Given the description of an element on the screen output the (x, y) to click on. 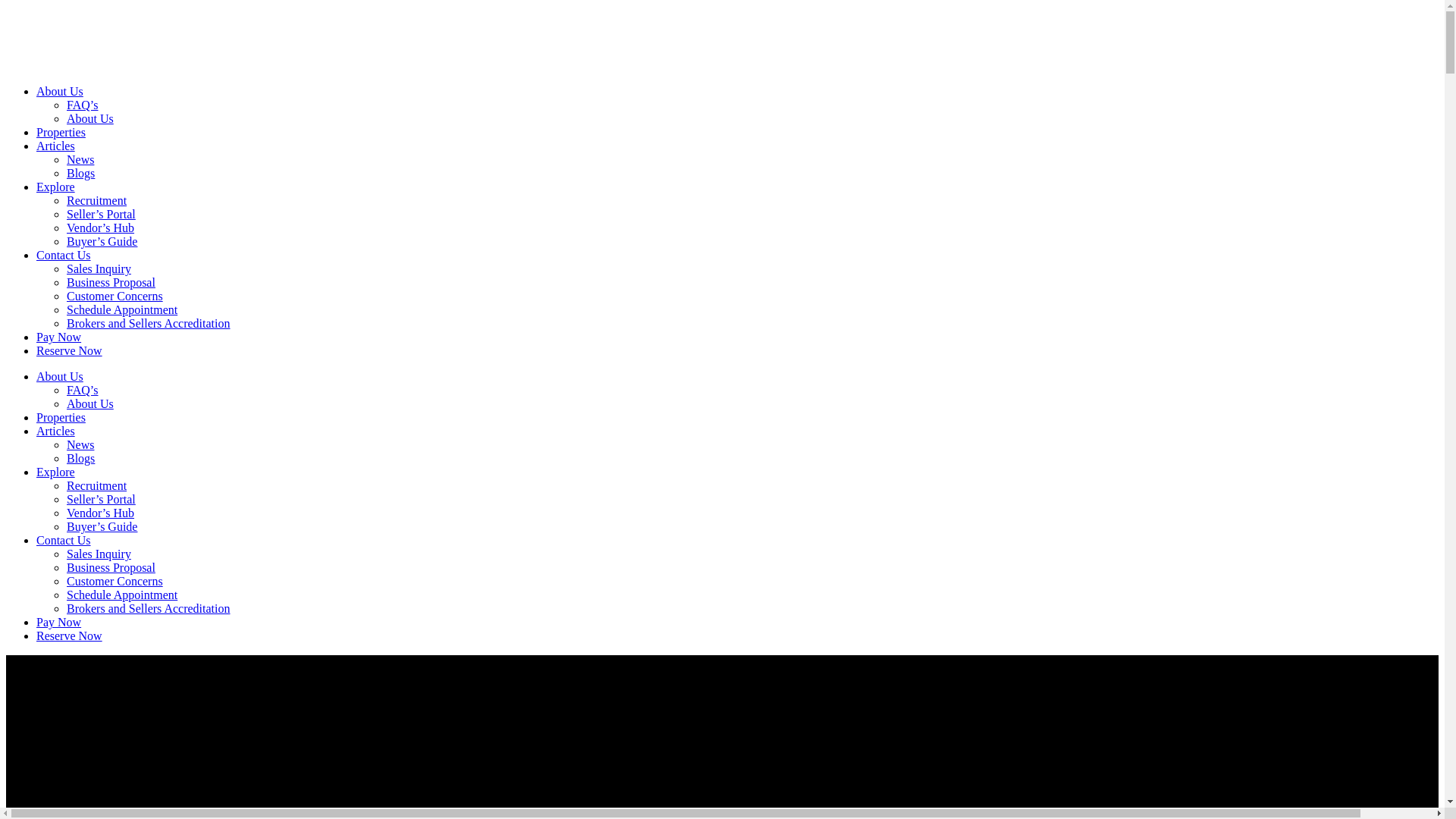
Properties (60, 417)
Explore (55, 472)
Recruitment (96, 485)
Pay Now (58, 336)
News (80, 159)
Articles (55, 431)
Customer Concerns (114, 581)
Blogs (80, 173)
About Us (89, 403)
Schedule Appointment (121, 309)
Contact Us (63, 254)
Properties (60, 132)
Sales Inquiry (98, 553)
Schedule Appointment (121, 594)
Blogs (80, 458)
